Given the description of an element on the screen output the (x, y) to click on. 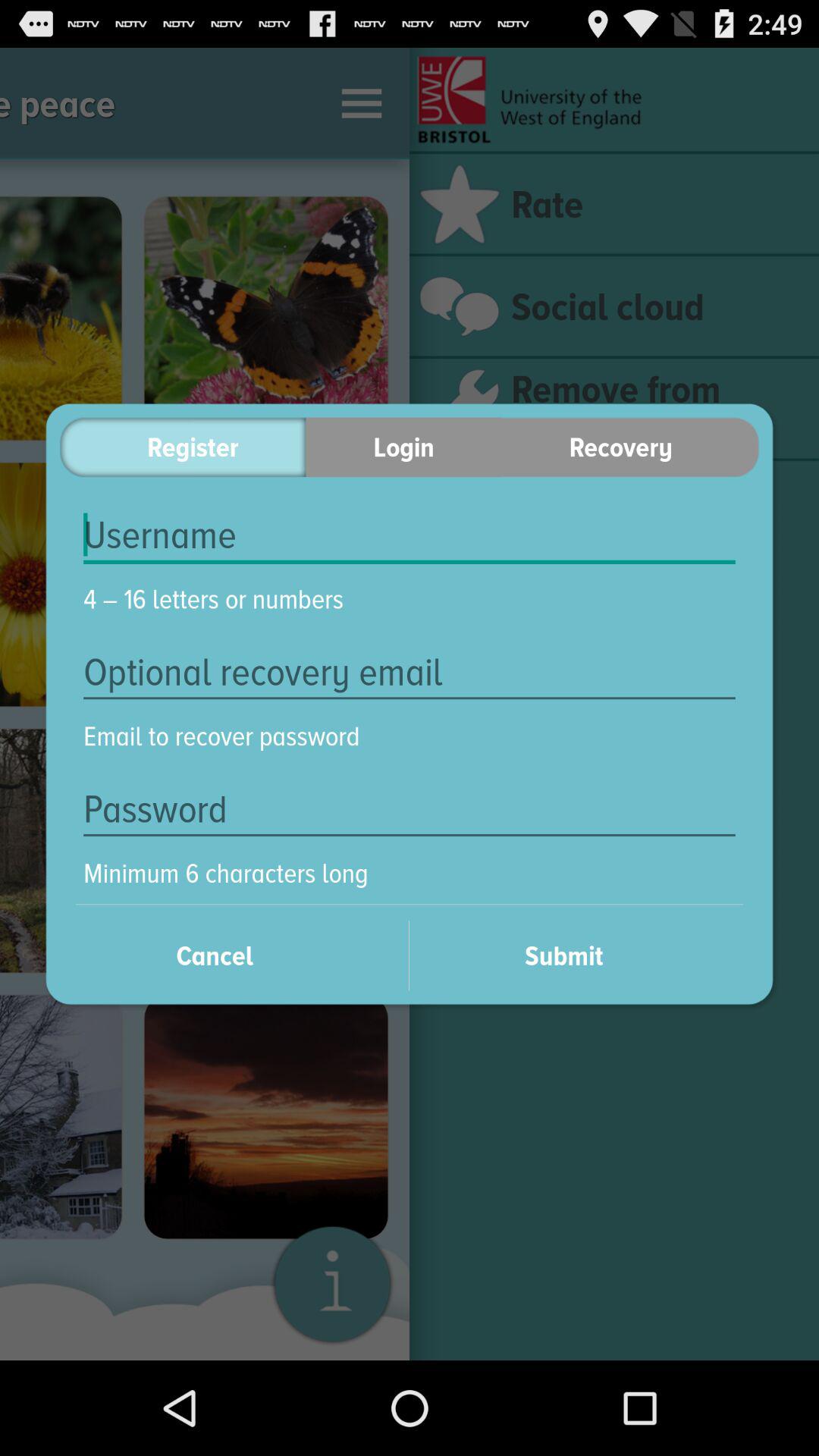
username (409, 535)
